Given the description of an element on the screen output the (x, y) to click on. 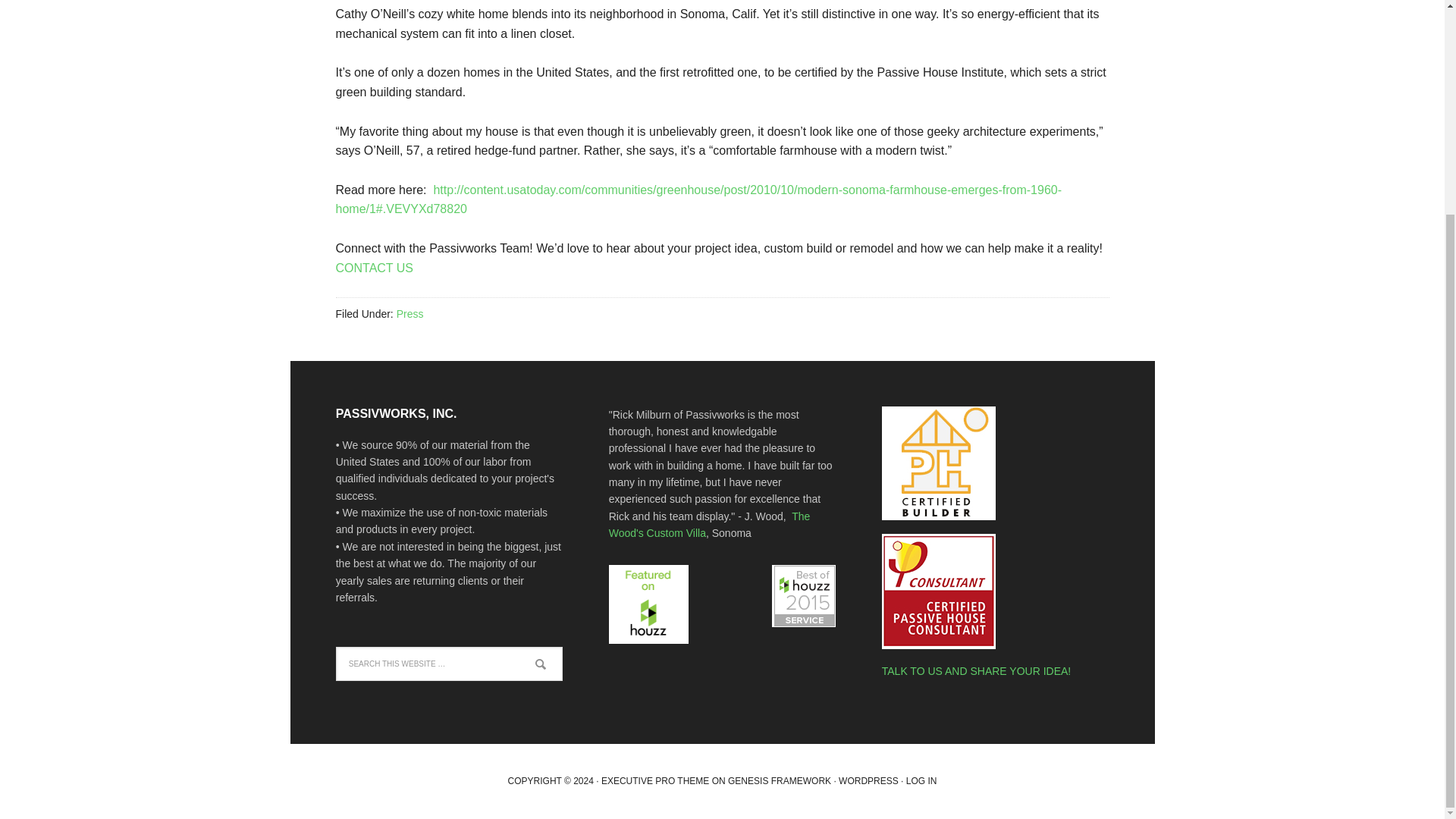
CONTACT US (373, 267)
GENESIS FRAMEWORK (779, 780)
Press (409, 313)
The Wood's Custom Villa (709, 524)
EXECUTIVE PRO THEME (655, 780)
LOG IN (921, 780)
WORDPRESS (868, 780)
TALK TO US AND SHARE YOUR IDEA! (976, 671)
